Given the description of an element on the screen output the (x, y) to click on. 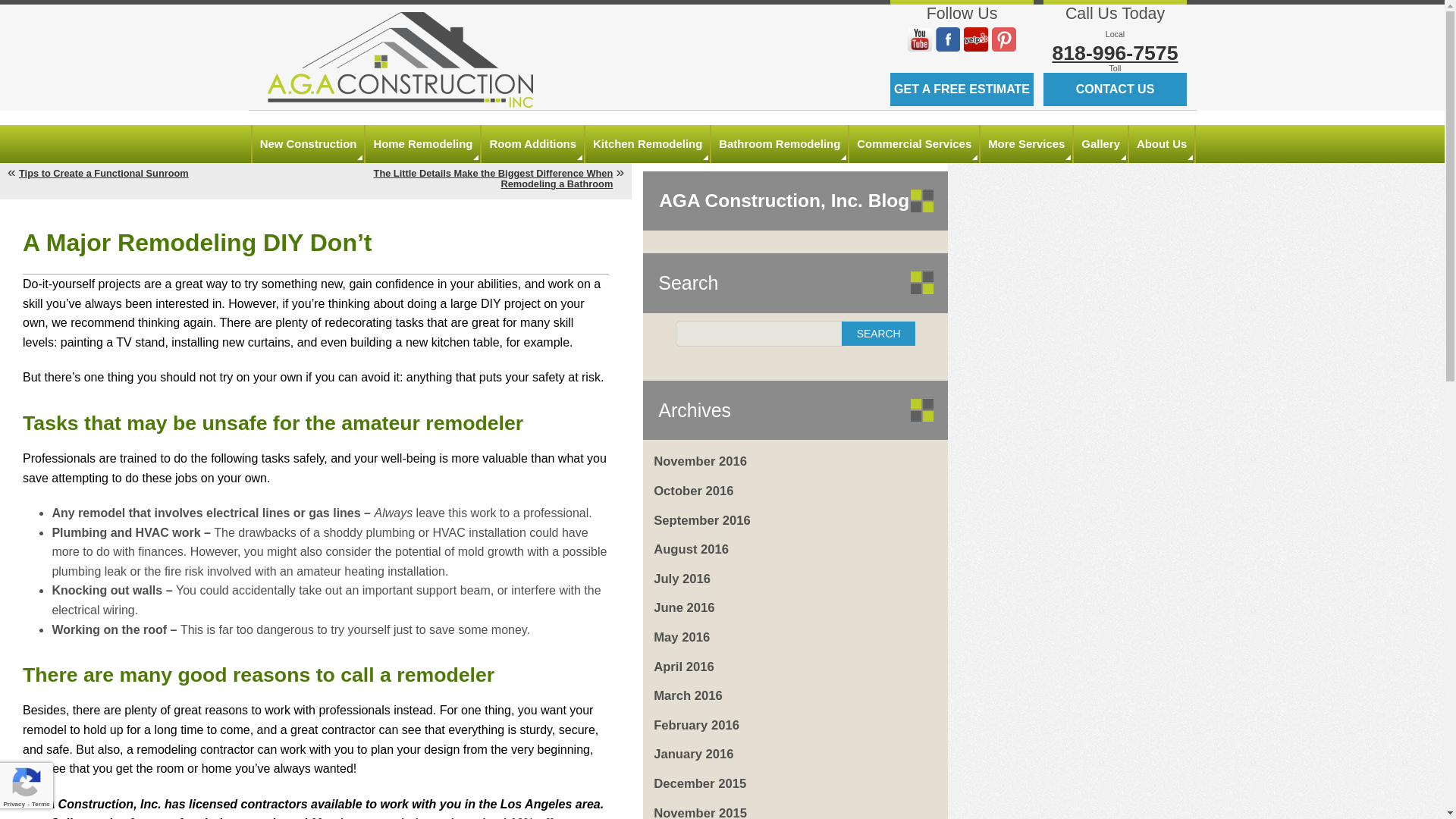
New Construction (308, 143)
Room Additions (532, 143)
More Services (1025, 143)
Kitchen Remodeling (647, 143)
CONTACT US (1114, 89)
GET A FREE ESTIMATE (961, 89)
877-262-6555 (1114, 92)
Home Remodeling (422, 143)
YouTube (919, 39)
818-996-7575 (1114, 52)
Facebook (947, 39)
Yelp (975, 39)
Commercial Services (913, 143)
Bathroom Remodeling (779, 143)
Pinterest (1003, 39)
